Given the description of an element on the screen output the (x, y) to click on. 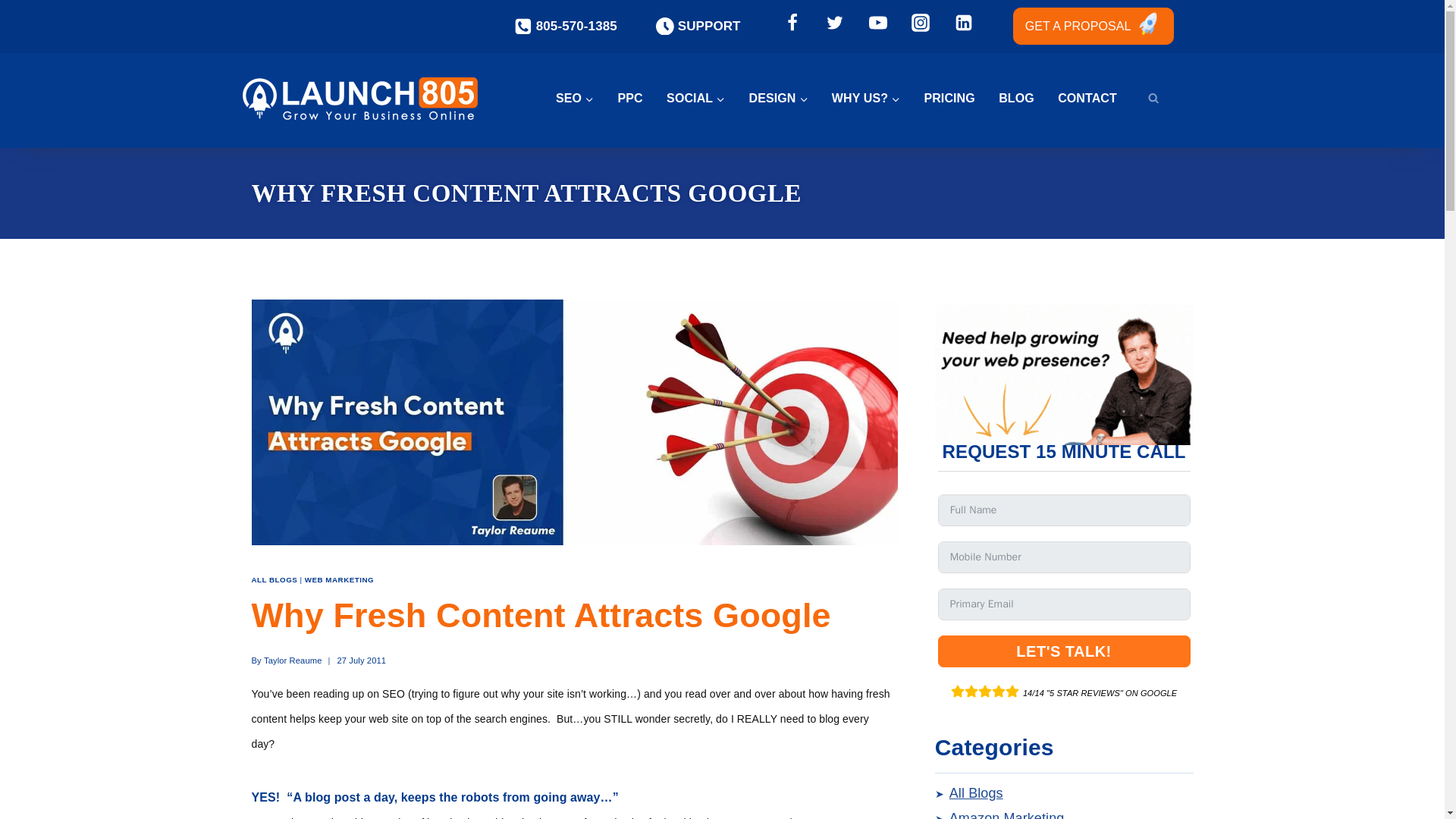
PRICING (957, 97)
Search Engine Optimization Services (583, 97)
PPC Marketing Services (638, 97)
805-570-1385 (565, 25)
PPC (638, 97)
CONTACT (1096, 97)
GET A PROPOSAL (1093, 26)
BLOG (1024, 97)
Grow Your Presence Online. (874, 97)
Best Social Media Marketing Services in Santa Barbara (703, 97)
DESIGN (787, 97)
SOCIAL (703, 97)
WHY US? (874, 97)
SUPPORT (698, 25)
SEO (583, 97)
